Given the description of an element on the screen output the (x, y) to click on. 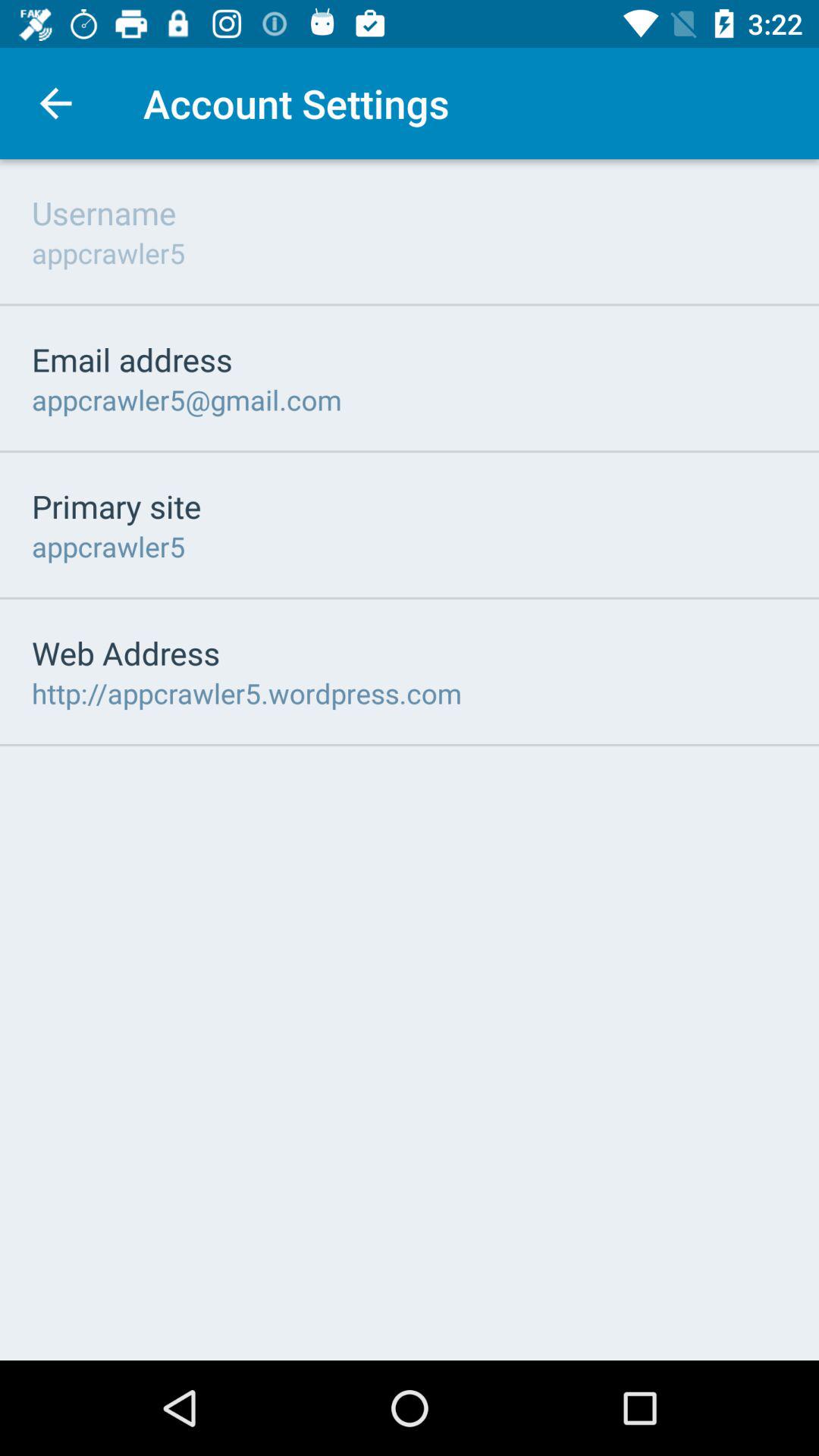
choose icon to the left of account settings item (55, 103)
